Given the description of an element on the screen output the (x, y) to click on. 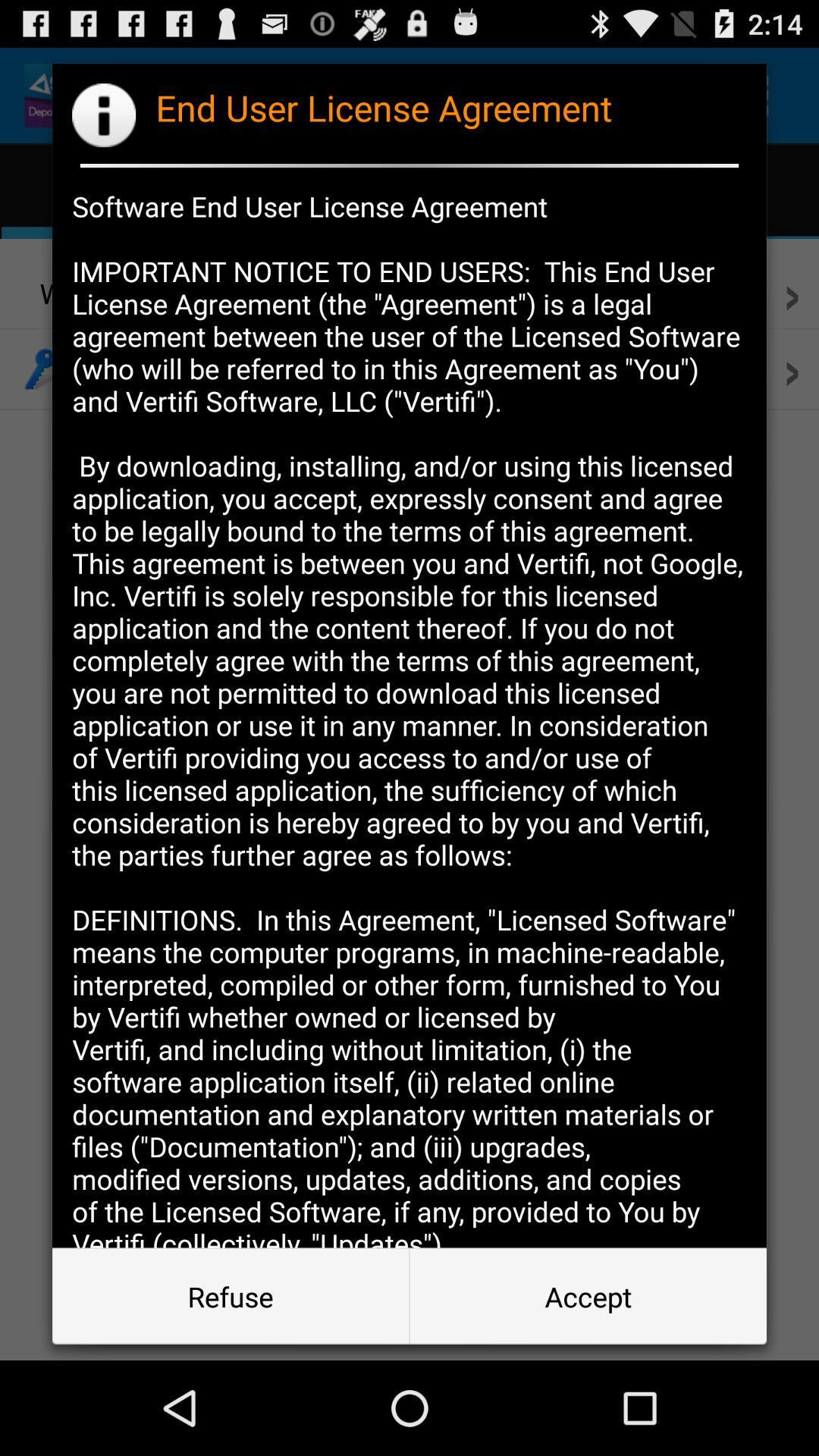
jump to accept icon (588, 1296)
